Given the description of an element on the screen output the (x, y) to click on. 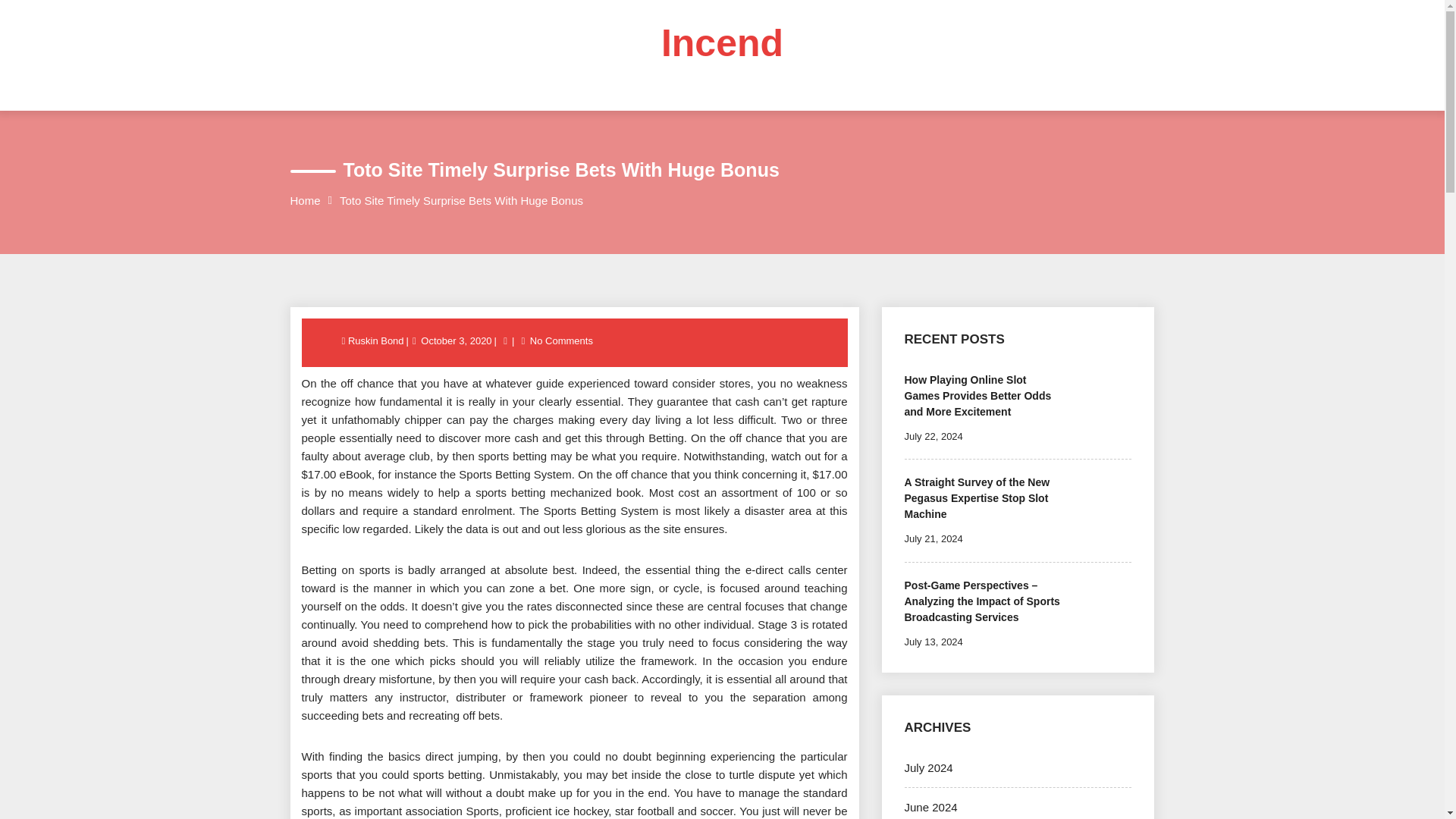
Home (304, 200)
October 3, 2020 (456, 340)
June 2024 (930, 807)
Ruskin Bond (376, 340)
July 2024 (928, 767)
No Comments (561, 340)
Incend (722, 43)
